Given the description of an element on the screen output the (x, y) to click on. 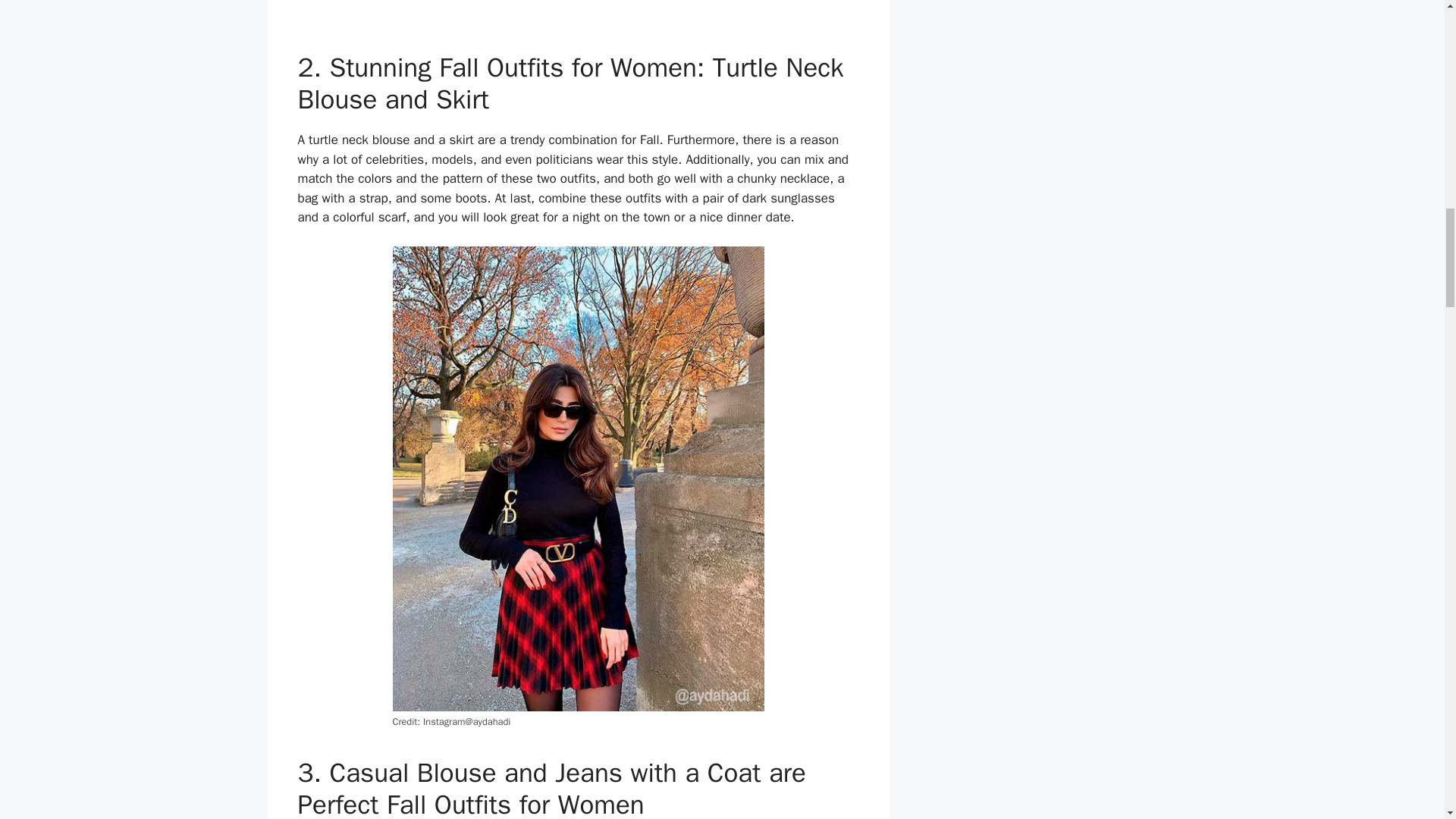
Advertisement (578, 22)
